Given the description of an element on the screen output the (x, y) to click on. 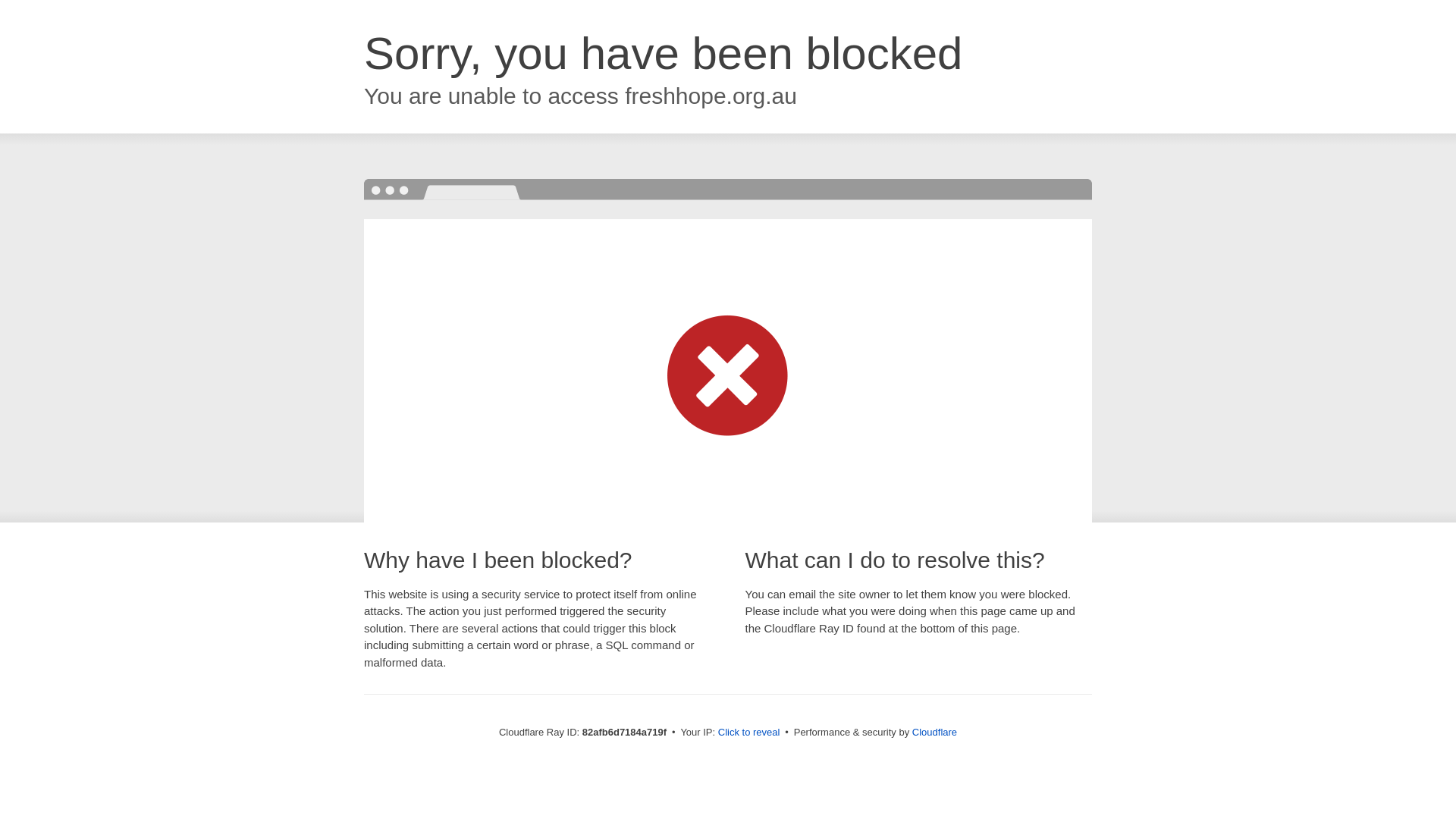
Cloudflare Element type: text (934, 731)
Click to reveal Element type: text (749, 732)
